Given the description of an element on the screen output the (x, y) to click on. 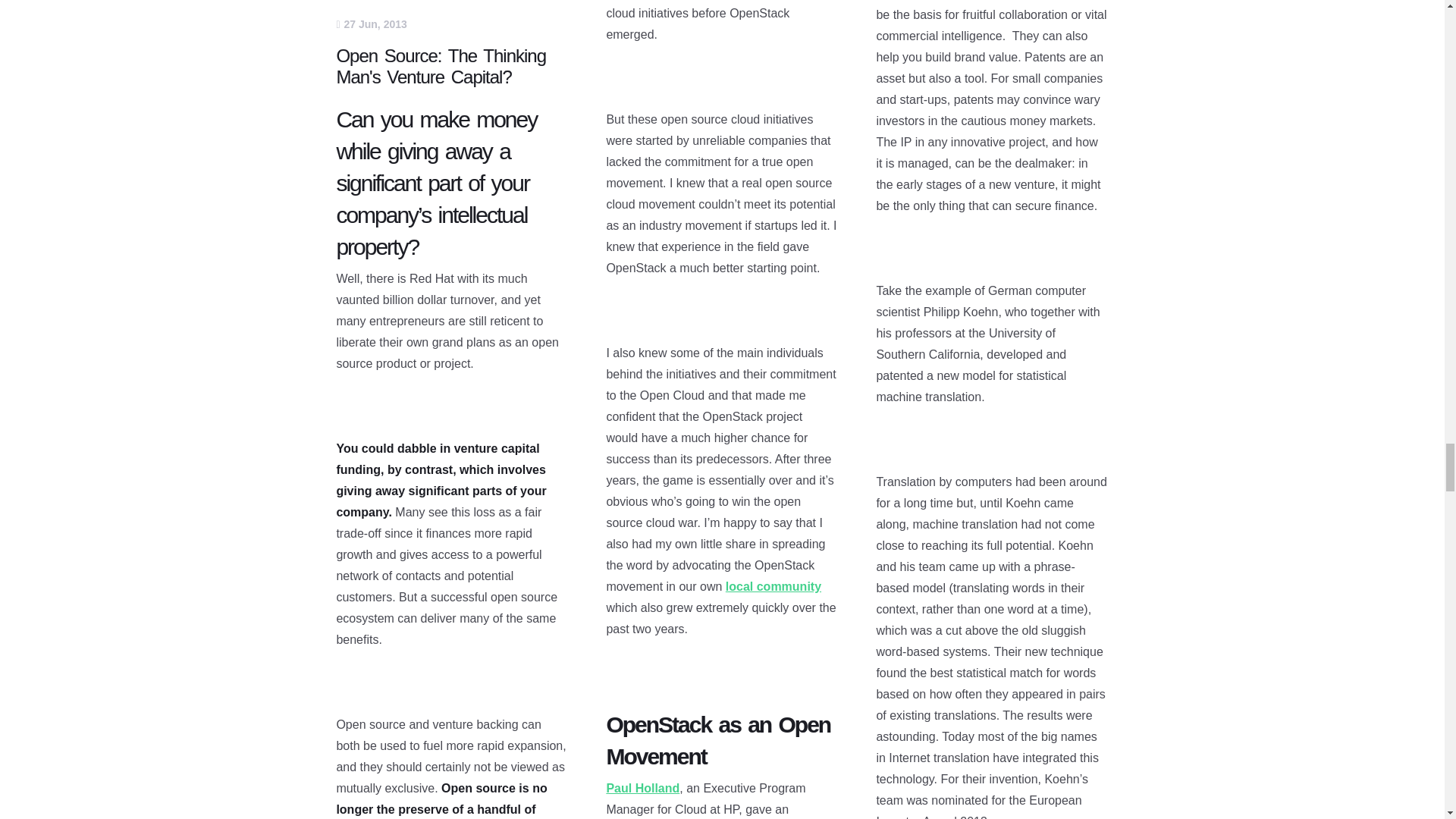
local community (773, 585)
Paul Holland (642, 788)
